Given the description of an element on the screen output the (x, y) to click on. 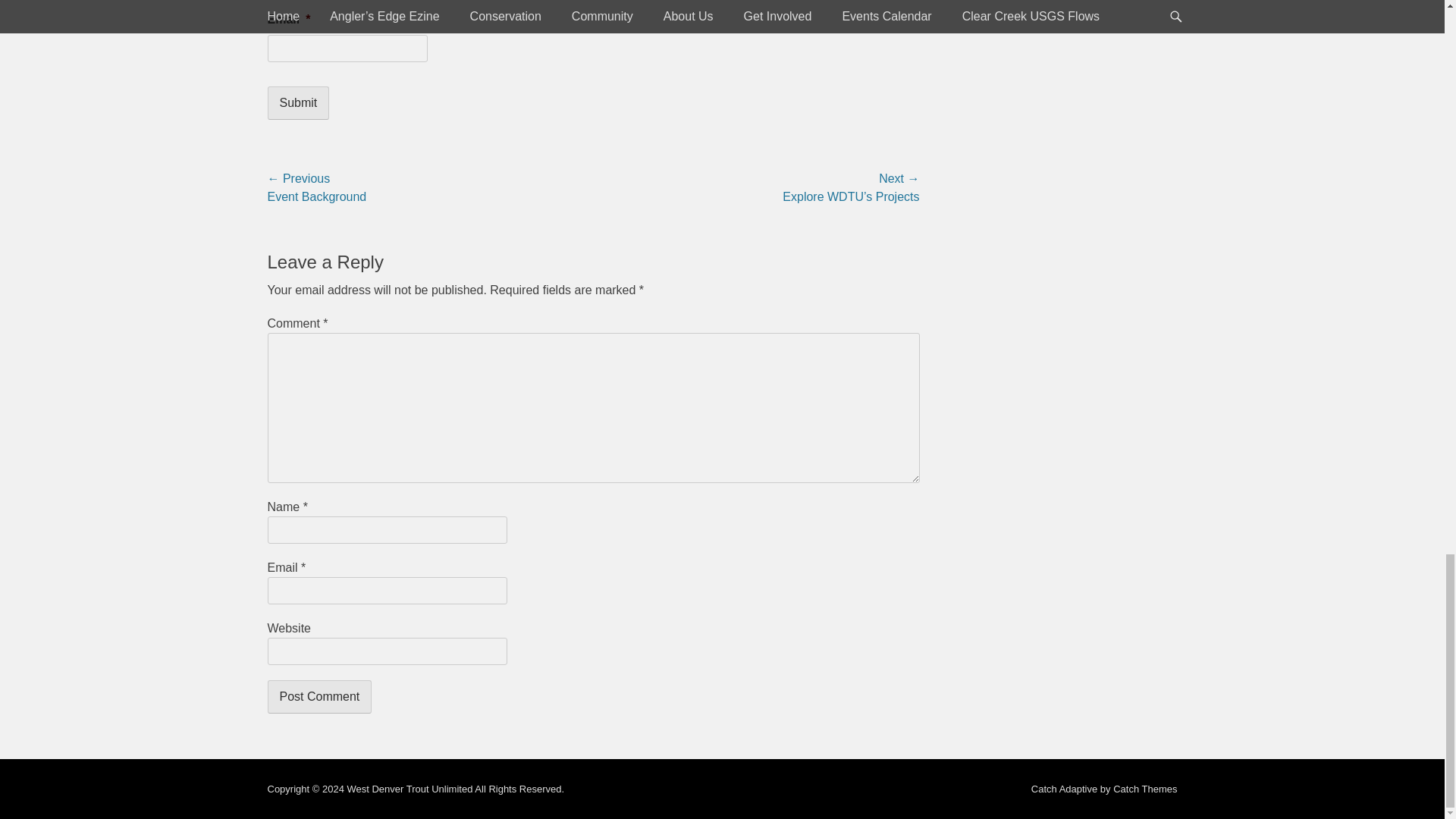
Submit (297, 102)
Post Comment (318, 696)
